Given the description of an element on the screen output the (x, y) to click on. 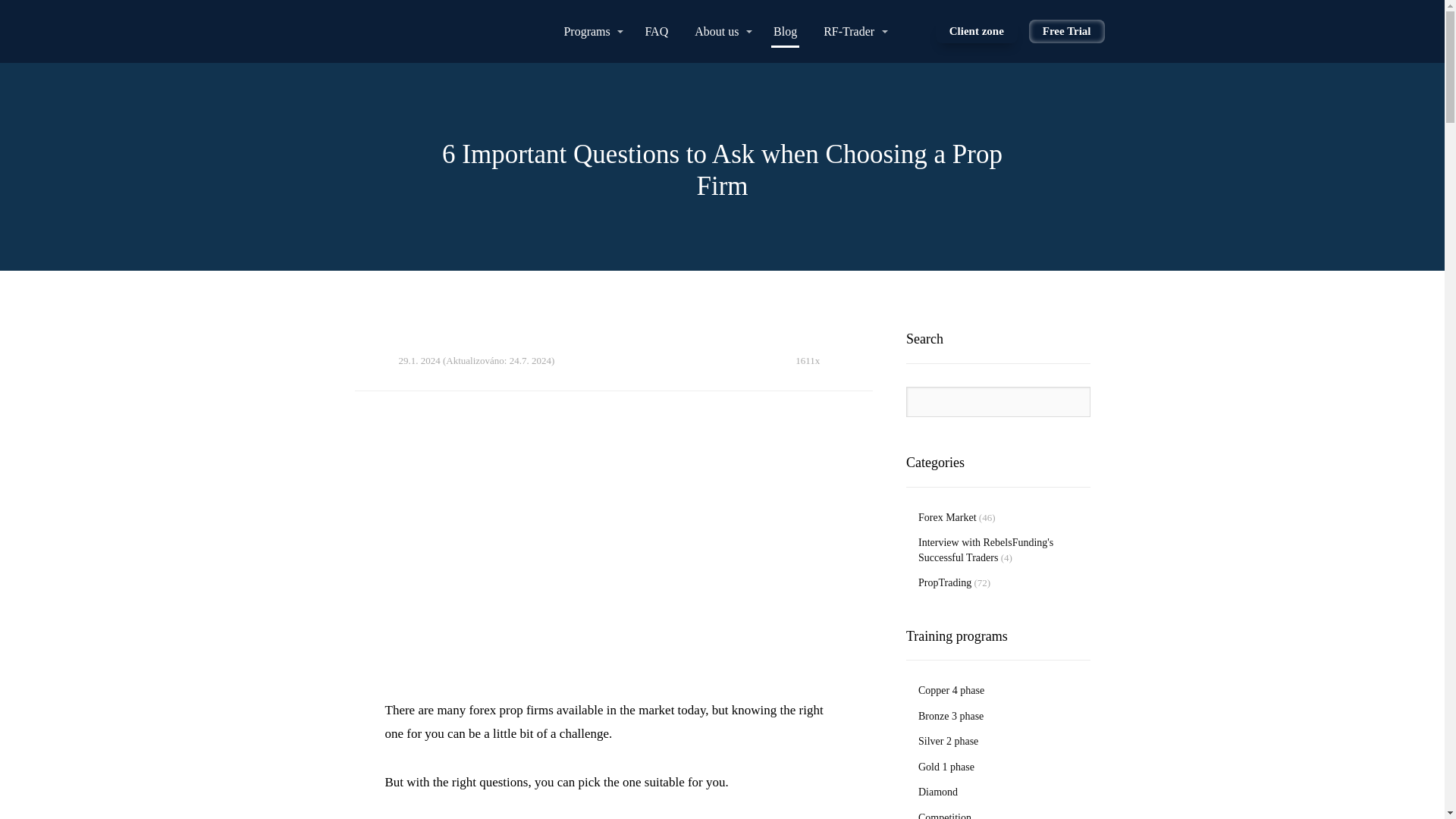
Programs (593, 31)
Interview with RebelsFunding's Successful Traders (985, 550)
Forex Market (947, 517)
RebelsFunding (173, 30)
FAQ (656, 31)
About us (723, 31)
Free Trial (1067, 31)
Blog (784, 31)
Search (1071, 402)
6 Important Questions to Ask when Choosing a Prop Firm 1 (608, 547)
RF-Trader (856, 31)
Client zone (976, 31)
Search (1071, 402)
PropTrading (944, 582)
